Given the description of an element on the screen output the (x, y) to click on. 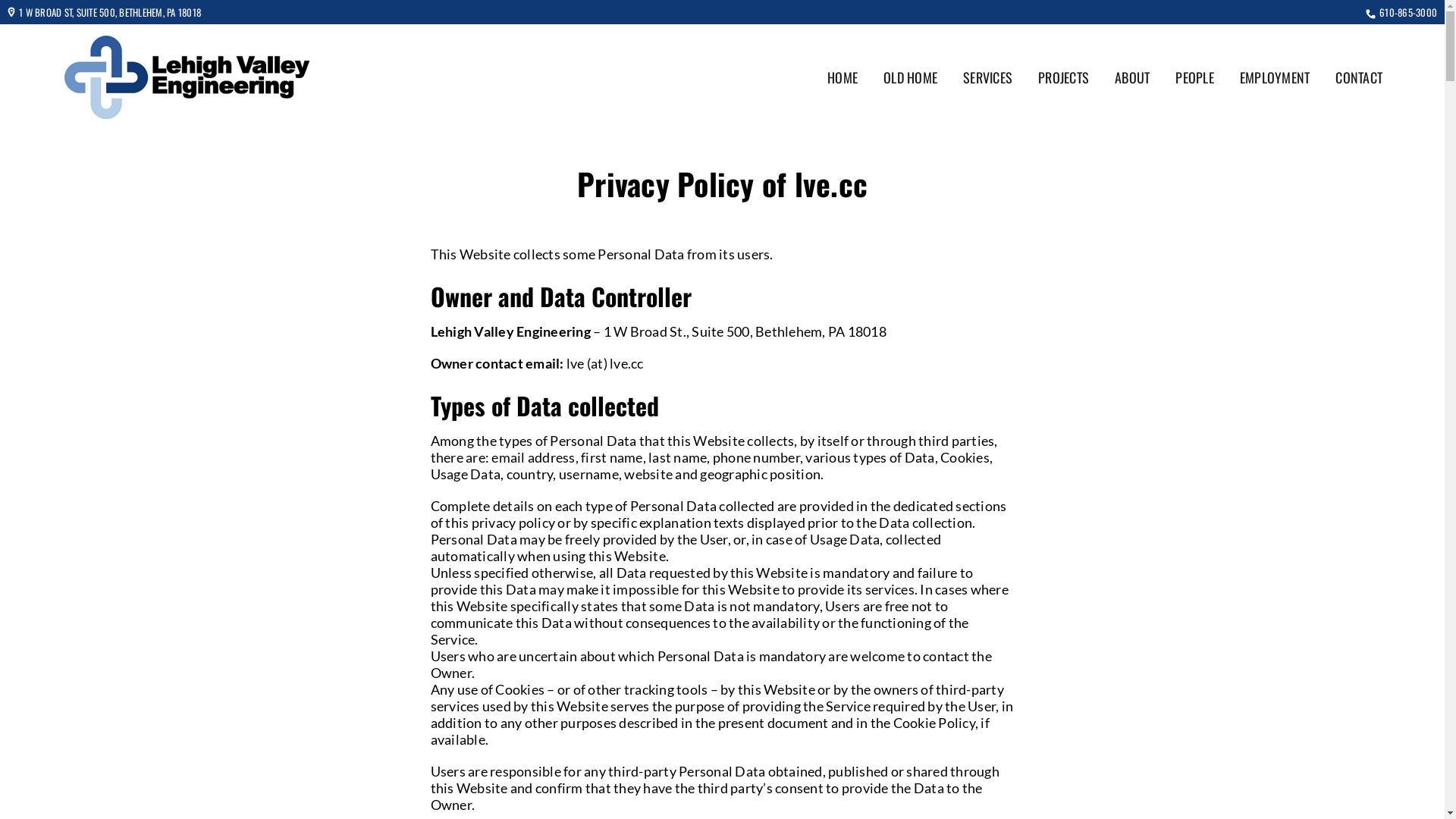
EMPLOYMENT Element type: text (1274, 76)
PROJECTS Element type: text (1063, 76)
PEOPLE Element type: text (1194, 76)
HOME Element type: text (842, 76)
SERVICES Element type: text (987, 76)
CONTACT Element type: text (1358, 76)
OLD HOME Element type: text (910, 76)
610-865-3000 Element type: text (1408, 11)
ABOUT Element type: text (1131, 76)
